Given the description of an element on the screen output the (x, y) to click on. 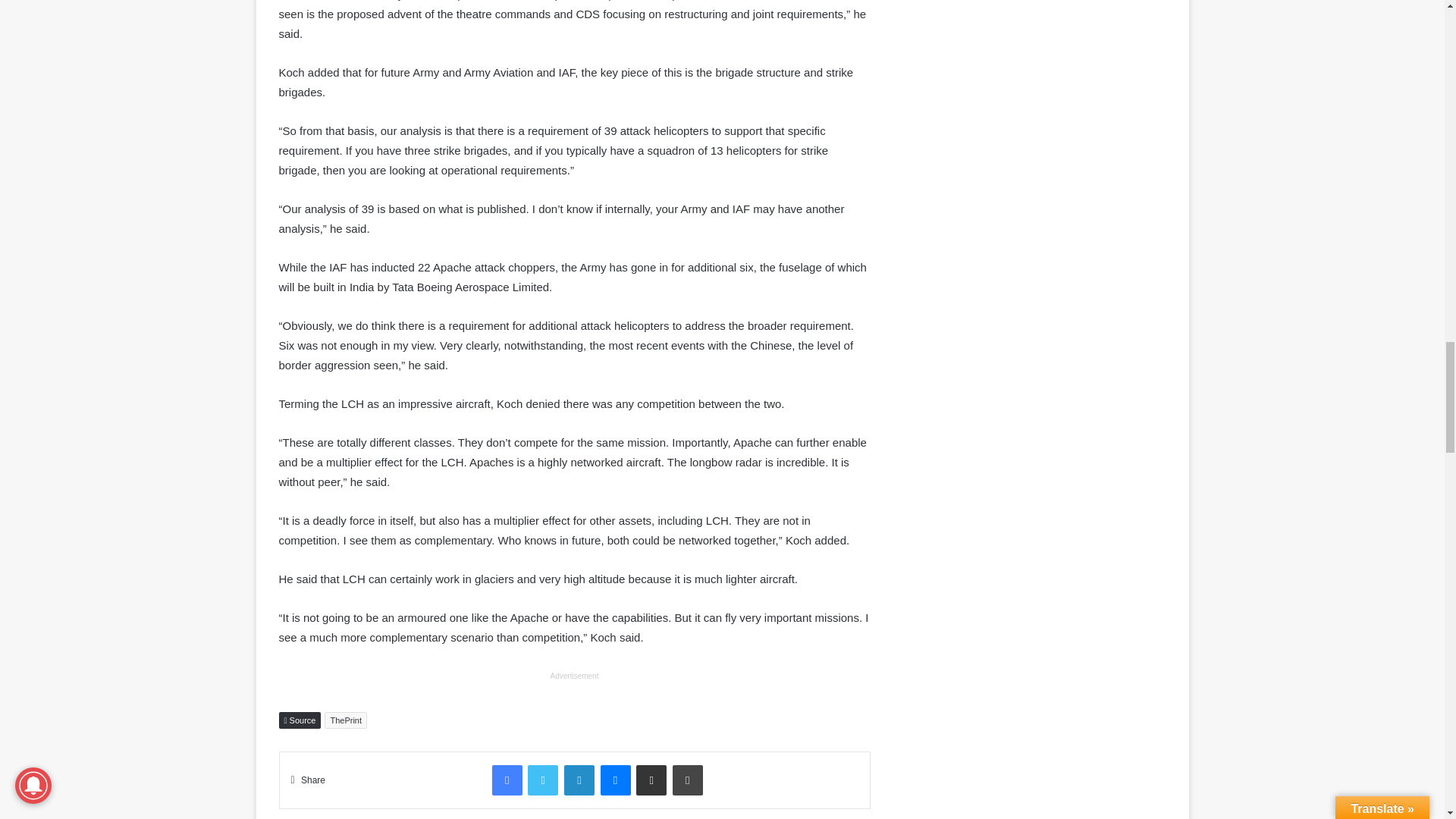
LinkedIn (579, 779)
Facebook (507, 779)
Messenger (614, 779)
Twitter (542, 779)
